Given the description of an element on the screen output the (x, y) to click on. 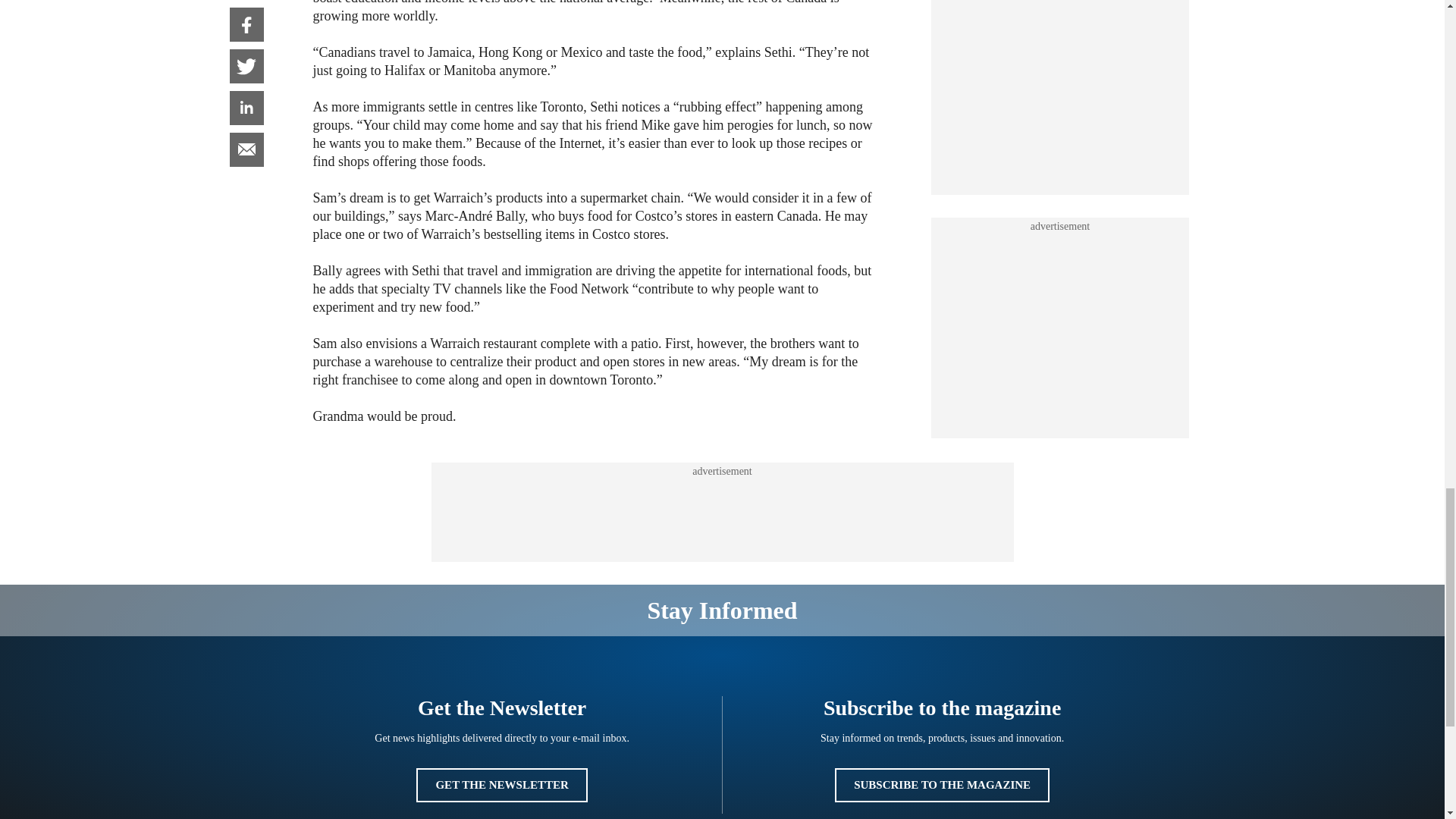
3rd party ad content (721, 512)
